Given the description of an element on the screen output the (x, y) to click on. 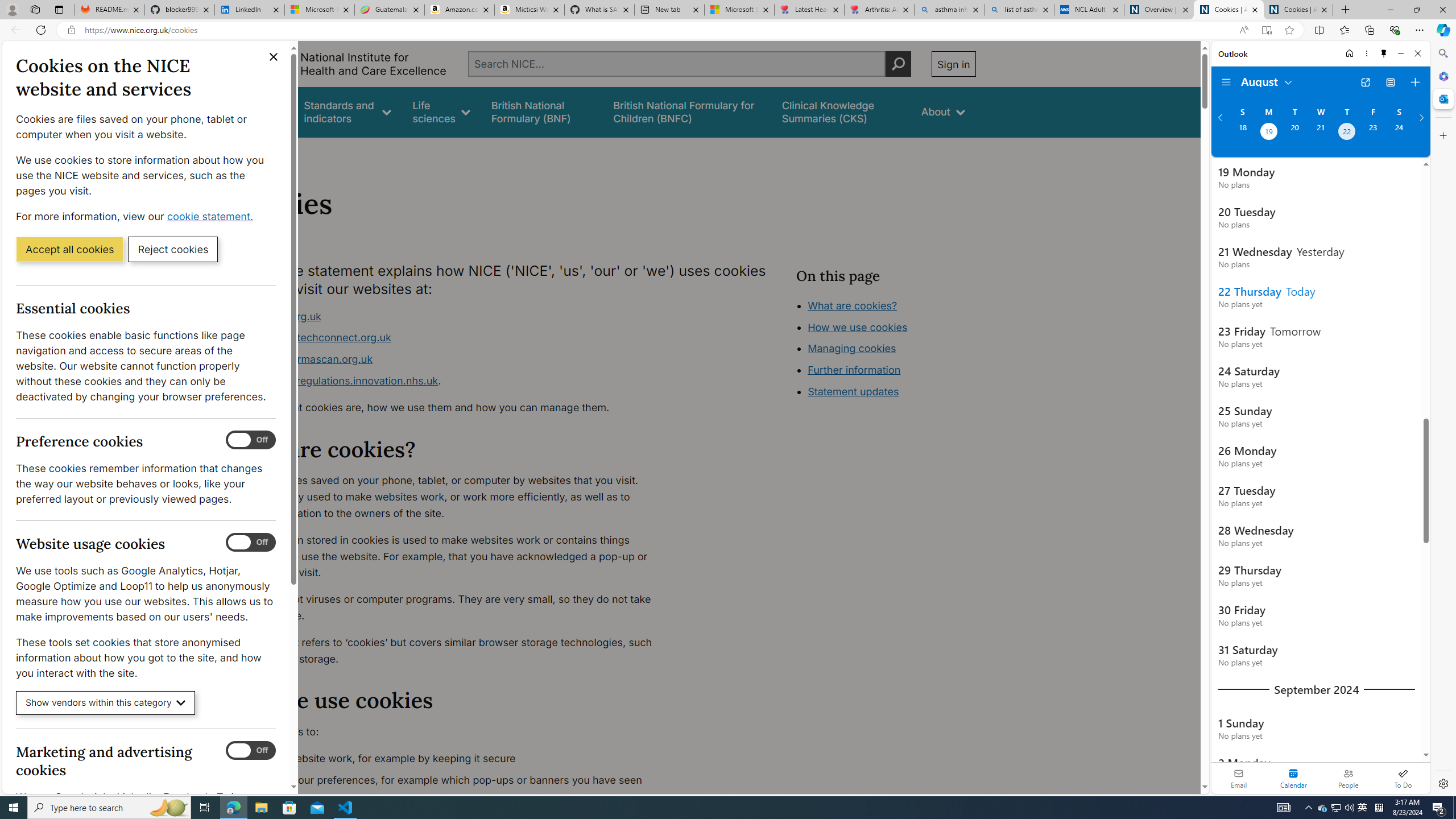
Cookies | About | NICE (1297, 9)
To Do (1402, 777)
www.nice.org.uk (452, 316)
false (841, 111)
Class: in-page-nav__list (884, 349)
Email (1238, 777)
Wednesday, August 21, 2024.  (1320, 132)
Sunday, August 18, 2024.  (1242, 132)
